Given the description of an element on the screen output the (x, y) to click on. 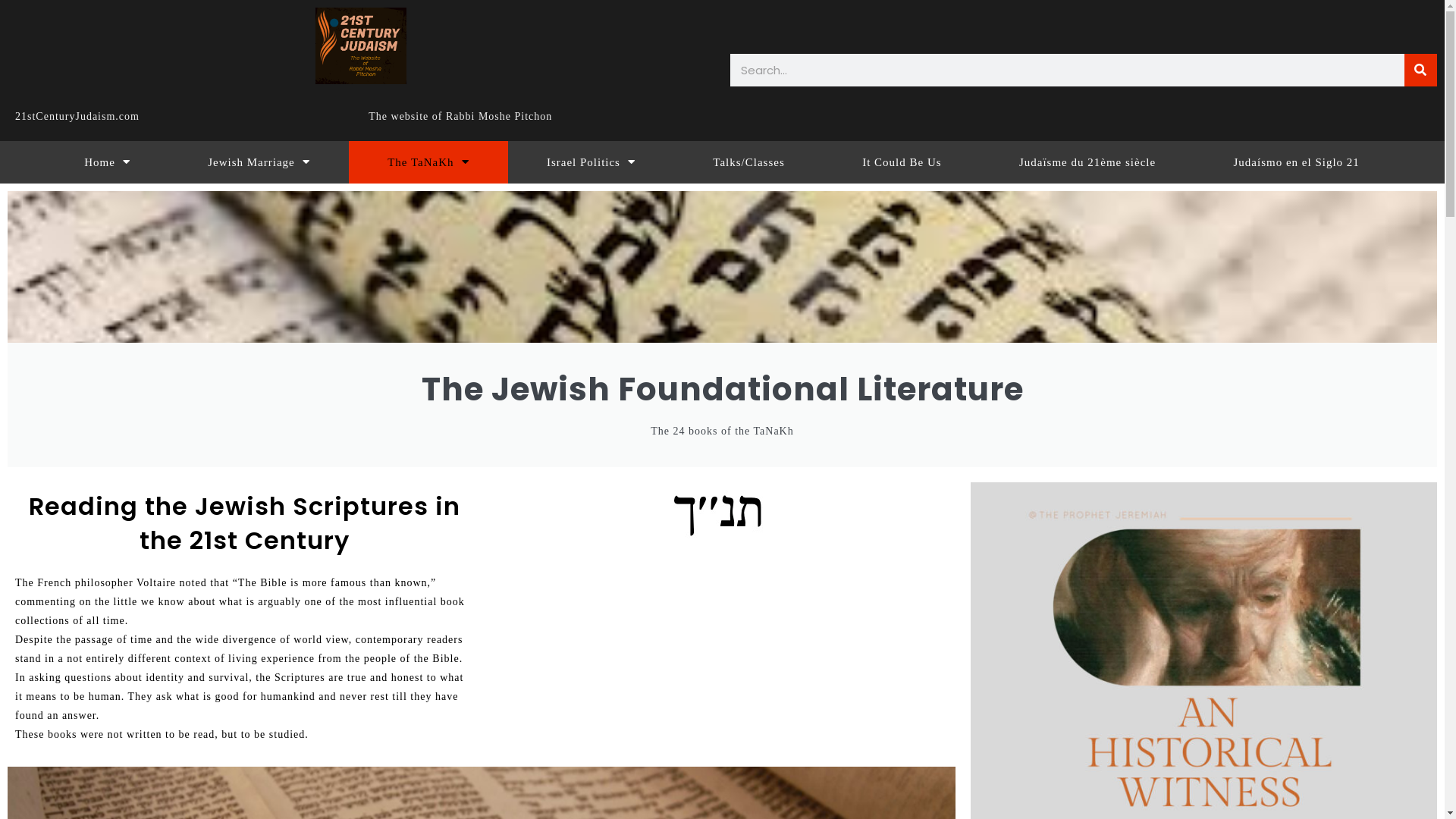
Israel Politics Element type: text (591, 162)
The TaNaKh Element type: text (428, 162)
Jewish Marriage Element type: text (258, 162)
Home Element type: text (107, 162)
It Could Be Us Element type: text (901, 162)
Talks/Classes Element type: text (748, 162)
